Given the description of an element on the screen output the (x, y) to click on. 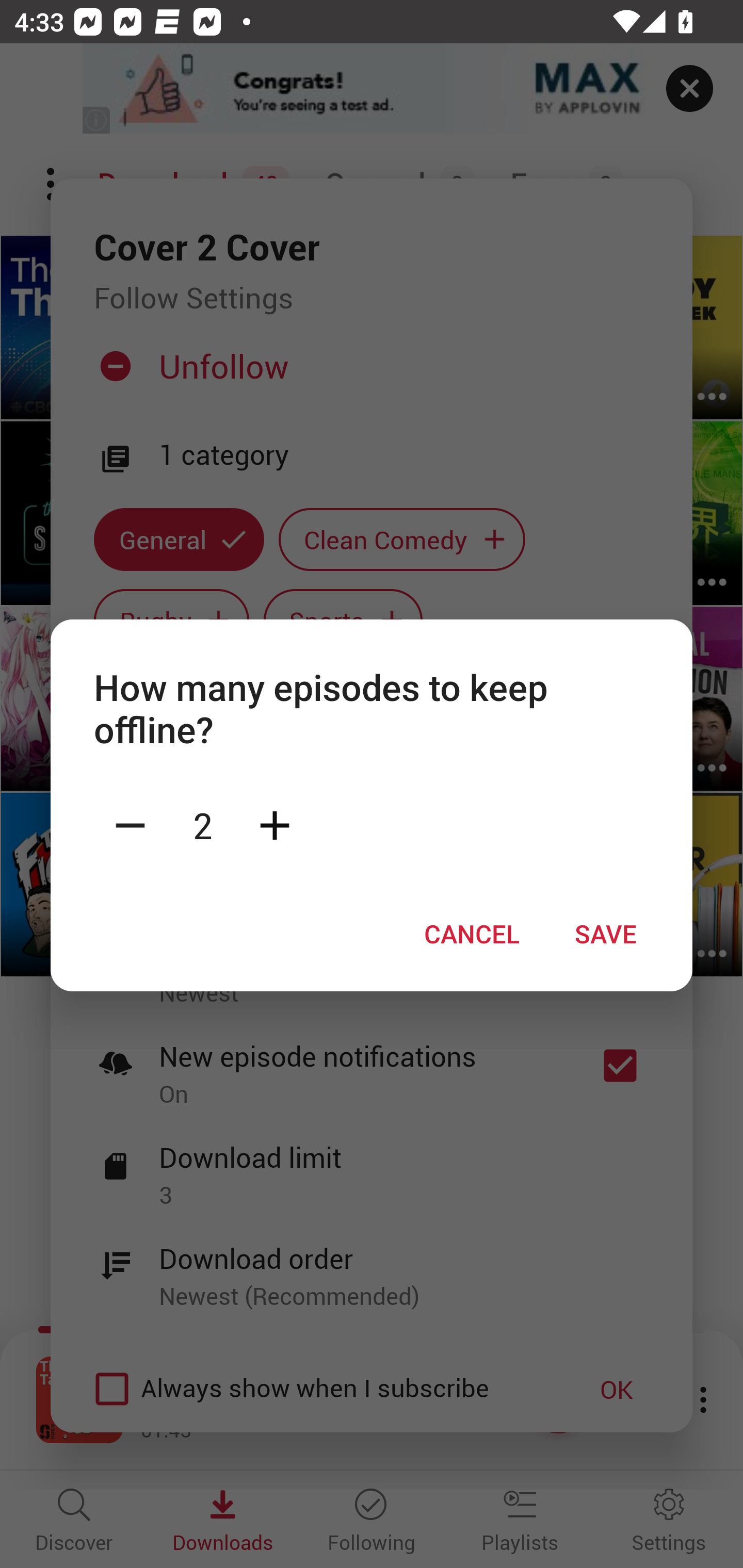
Minus (129, 824)
Plus (274, 824)
CANCEL (470, 933)
SAVE (605, 933)
